Given the description of an element on the screen output the (x, y) to click on. 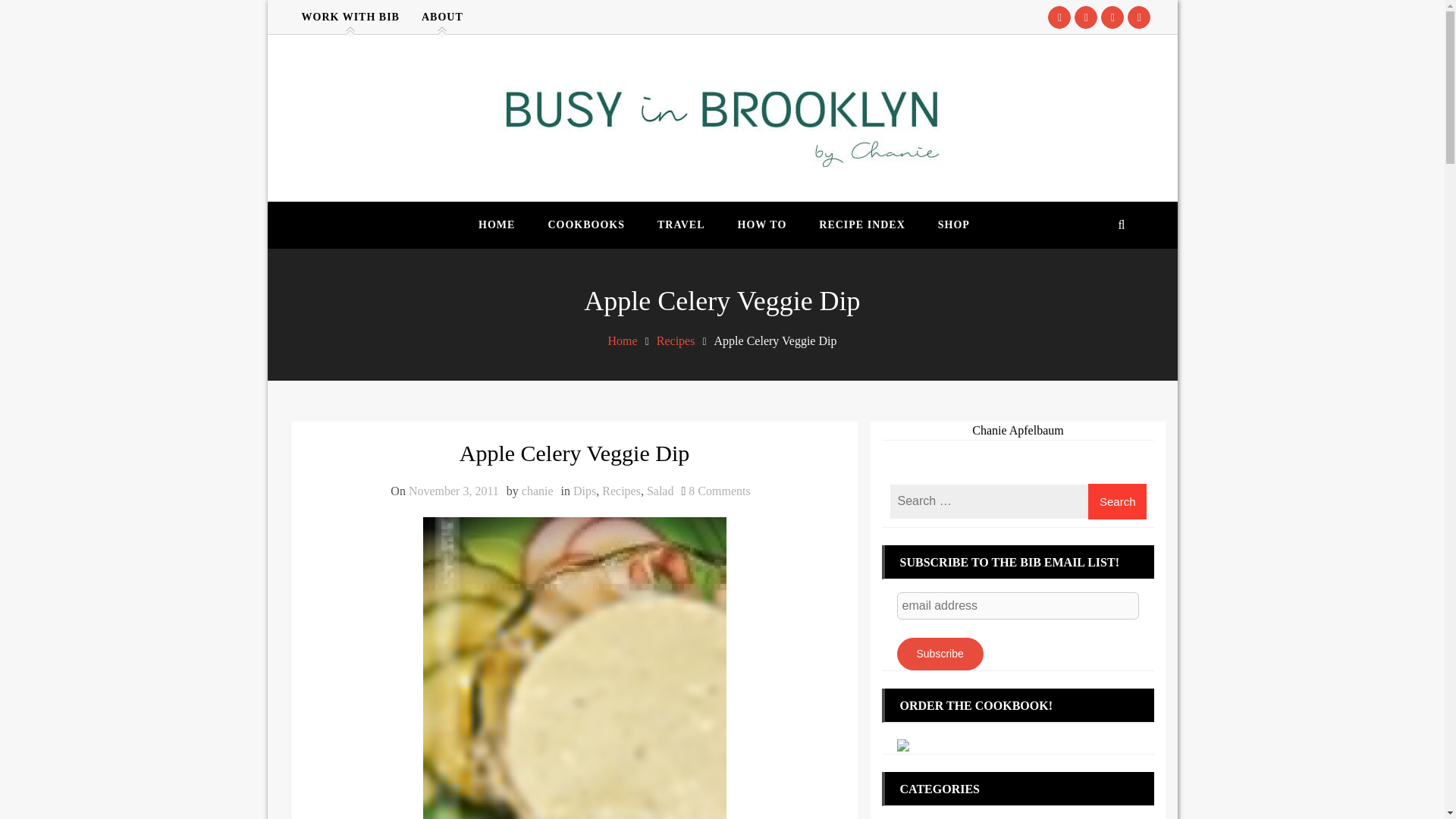
Salad (718, 490)
Recipes (660, 490)
Recipes (621, 490)
November 3, 2011 (675, 340)
COOKBOOKS (454, 490)
Apple Celery Veggie Dip (585, 225)
chanie (573, 453)
Dips (537, 490)
TRAVEL (584, 490)
WORK WITH BIB (681, 225)
ABOUT (350, 17)
HOME (441, 17)
HOW TO (496, 225)
Home (762, 225)
